Given the description of an element on the screen output the (x, y) to click on. 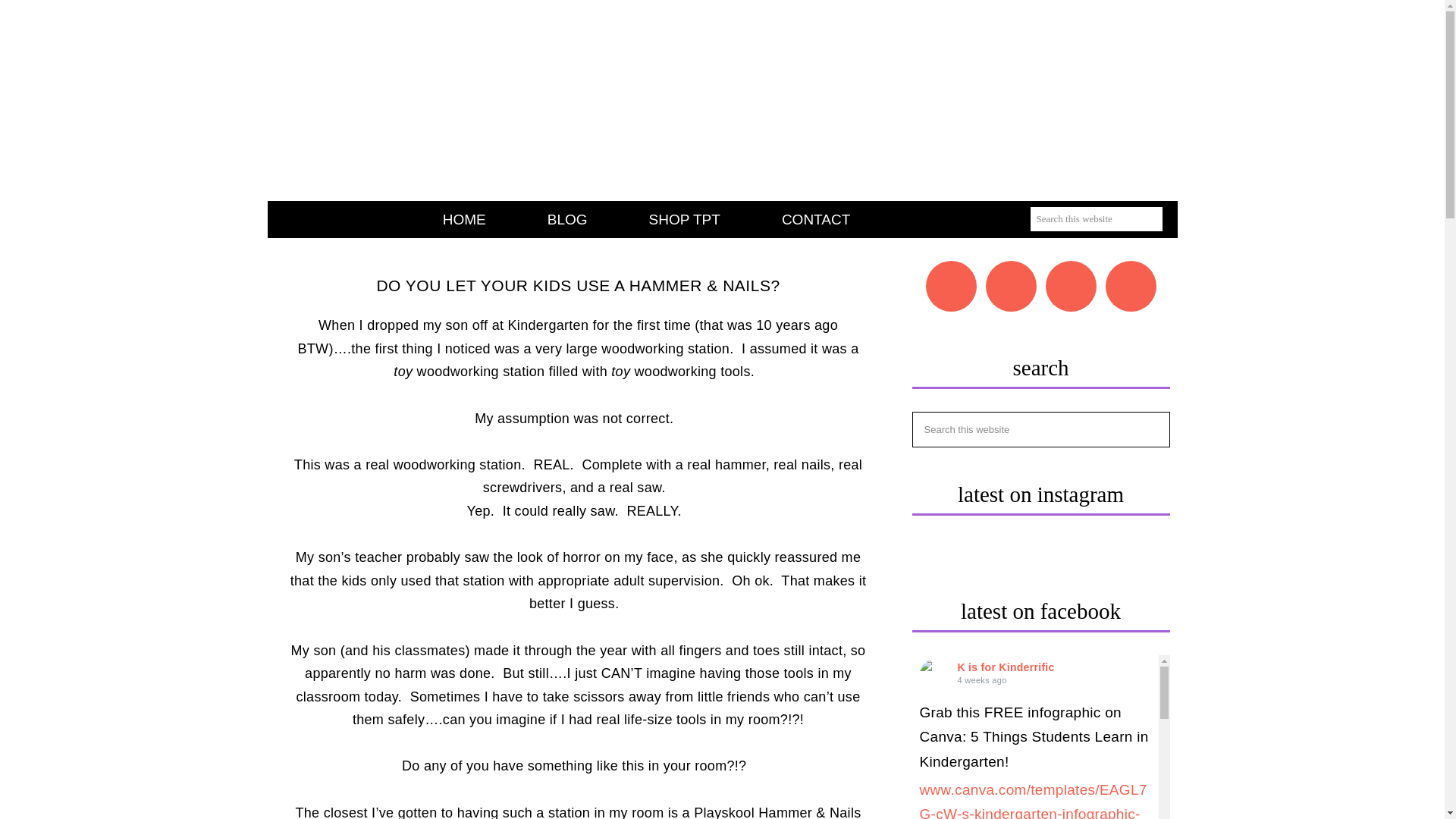
Search (1104, 242)
Search (1104, 242)
K is for Kinderrific (933, 674)
K is for Kinderrific (1005, 666)
CONTACT (815, 219)
K IS FOR KINDERRIFIC (722, 105)
Search (1104, 242)
